Given the description of an element on the screen output the (x, y) to click on. 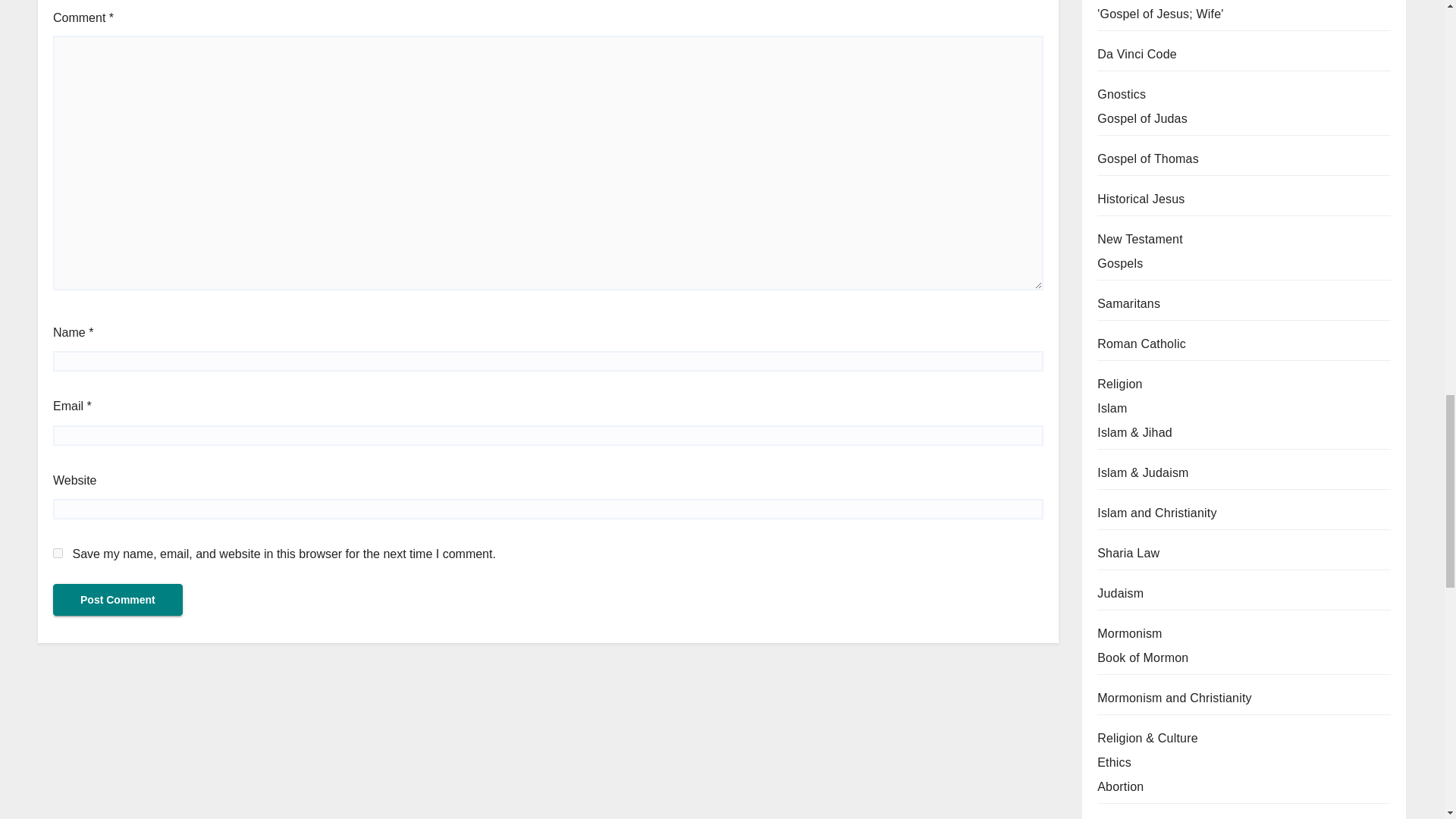
yes (57, 552)
Post Comment (117, 599)
